Given the description of an element on the screen output the (x, y) to click on. 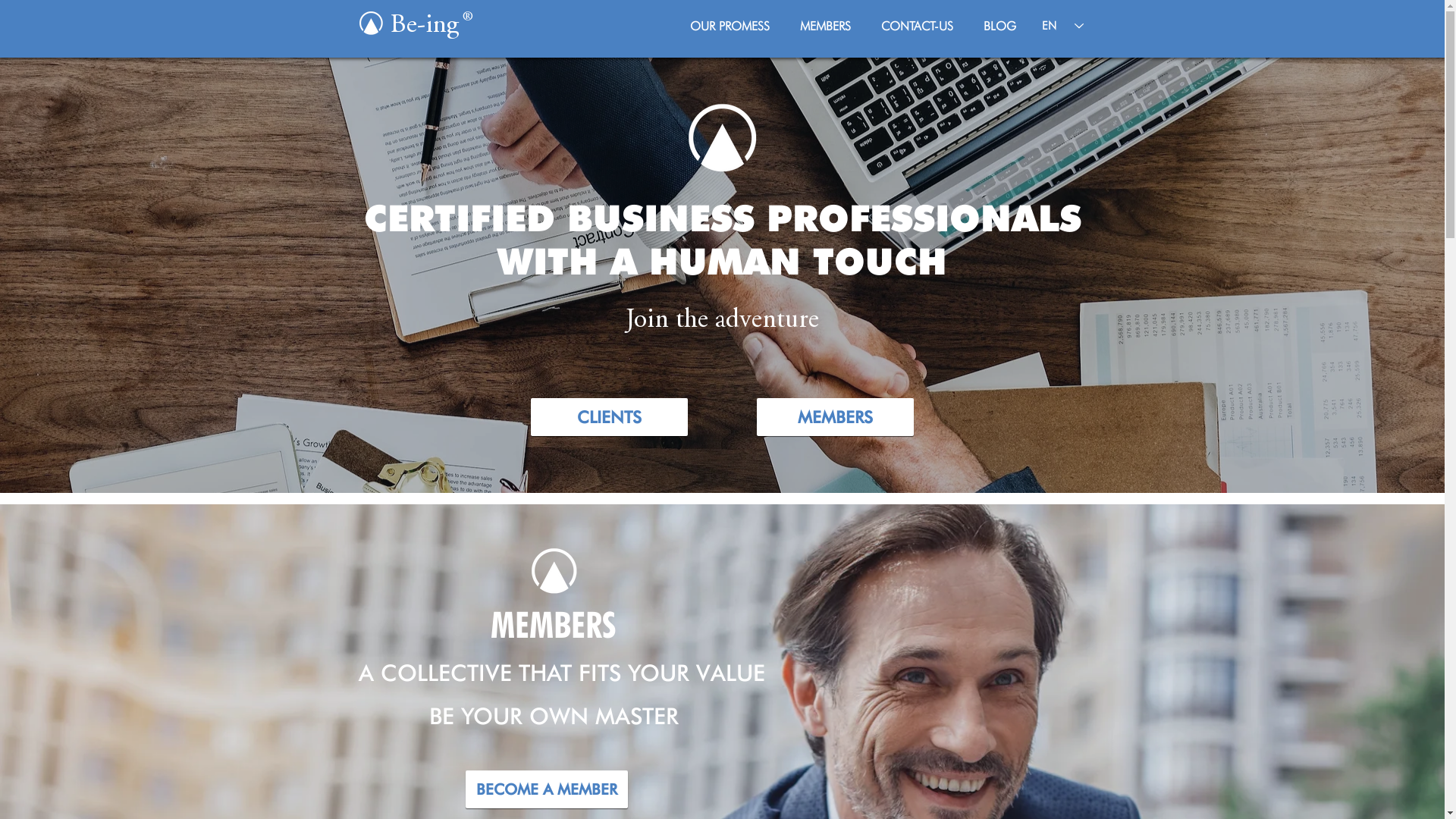
MEMBERS Element type: text (834, 417)
OUR PROMESS Element type: text (729, 25)
CONTACT-US Element type: text (917, 25)
MEMBERS Element type: text (824, 25)
CLIENTS Element type: text (608, 417)
Be-ing  Element type: text (427, 25)
BLOG Element type: text (998, 25)
BECOME A MEMBER Element type: text (546, 789)
